Given the description of an element on the screen output the (x, y) to click on. 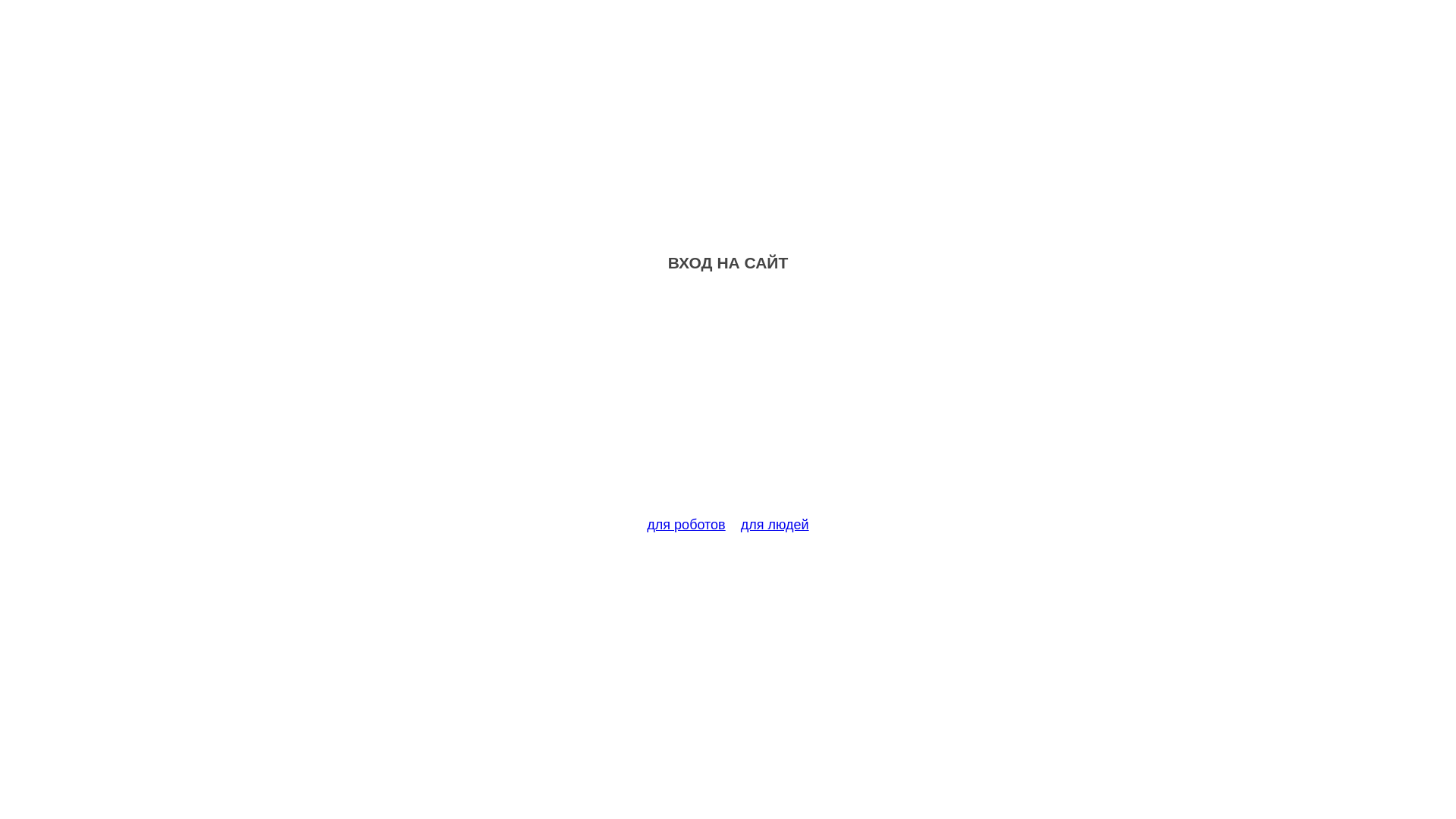
Advertisement Element type: hover (727, 403)
